Given the description of an element on the screen output the (x, y) to click on. 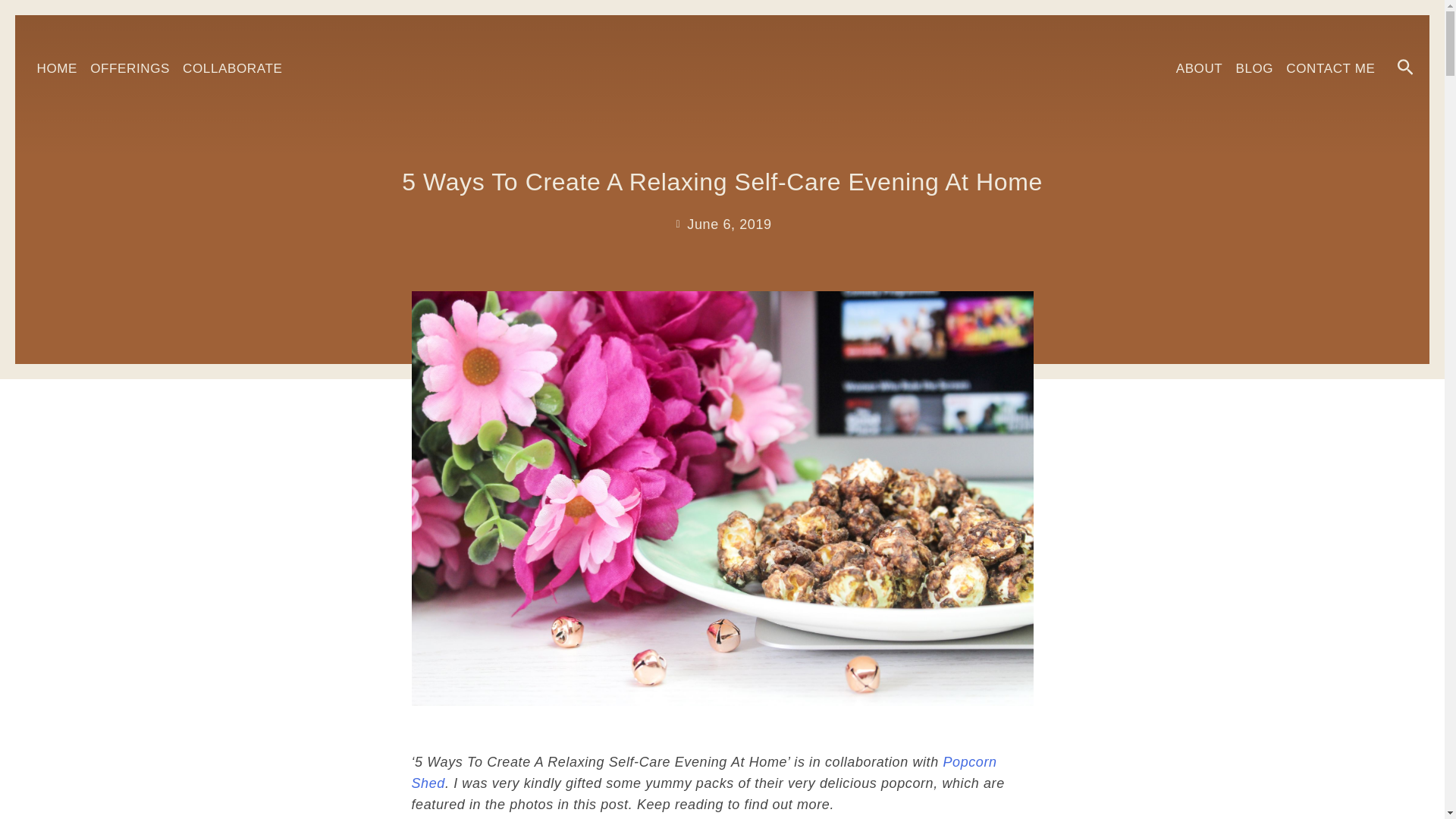
CONTACT ME (1330, 68)
ABOUT (1198, 68)
OFFERINGS (130, 68)
COLLABORATE (232, 68)
Popcorn Shed (702, 772)
